Given the description of an element on the screen output the (x, y) to click on. 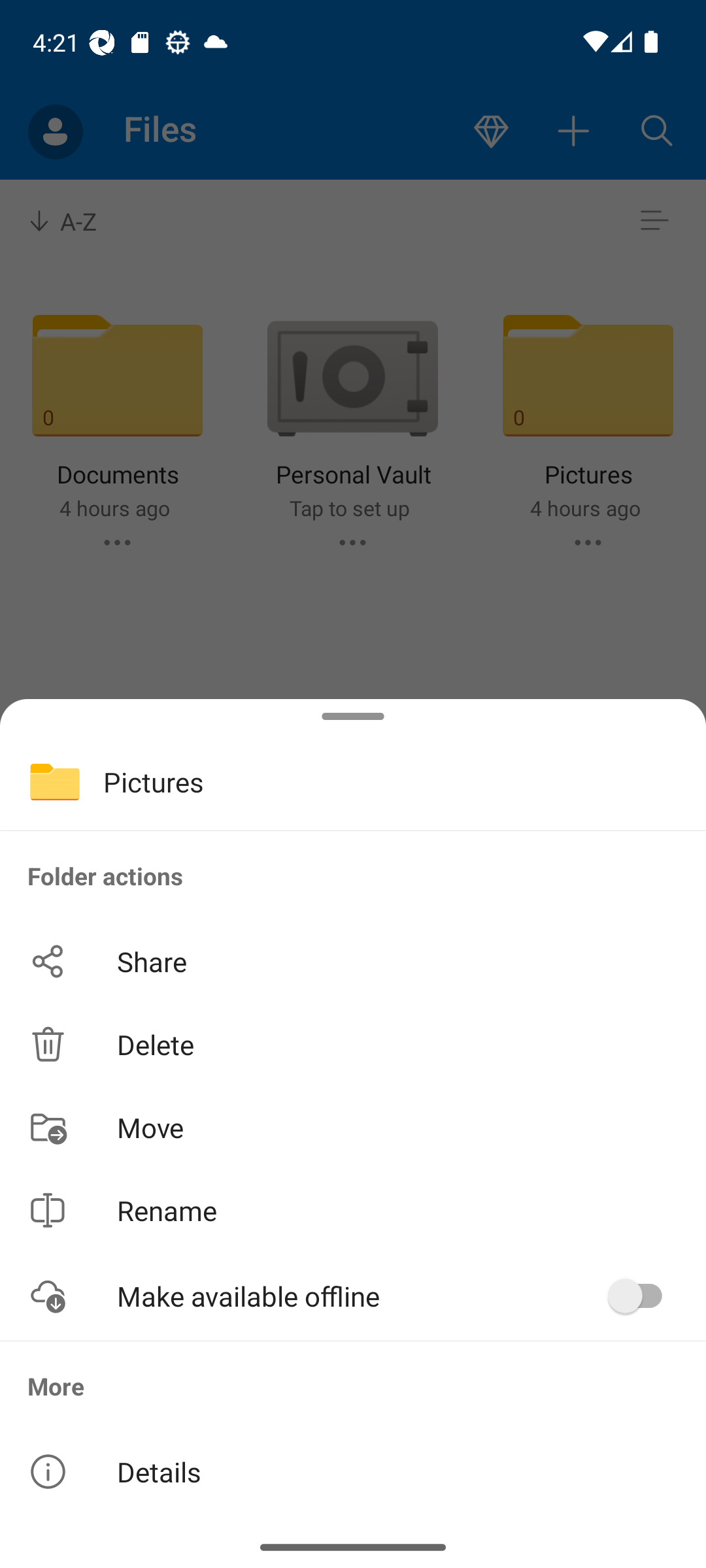
Share button Share (353, 961)
Delete button Delete (353, 1044)
Move button Move (353, 1126)
Rename button Rename (353, 1209)
Make offline operation (641, 1295)
Details button Details (353, 1471)
